Given the description of an element on the screen output the (x, y) to click on. 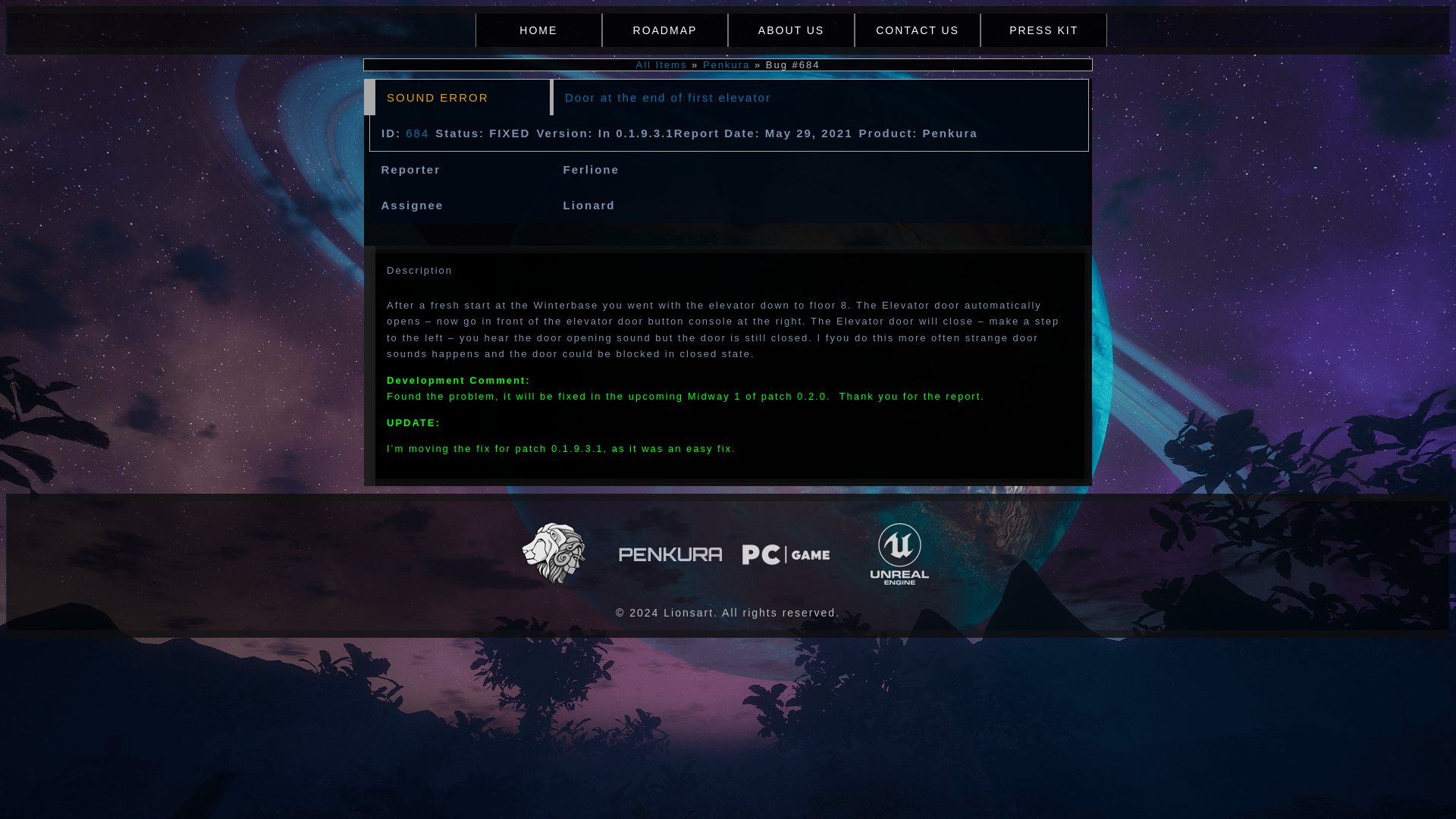
CONTACT US (917, 29)
684 (417, 132)
HOME (539, 29)
All Items (661, 64)
PRESS KIT (1042, 29)
ROADMAP (665, 29)
ABOUT US (791, 29)
Door at the end of first elevator (667, 97)
Penkura (726, 64)
